Given the description of an element on the screen output the (x, y) to click on. 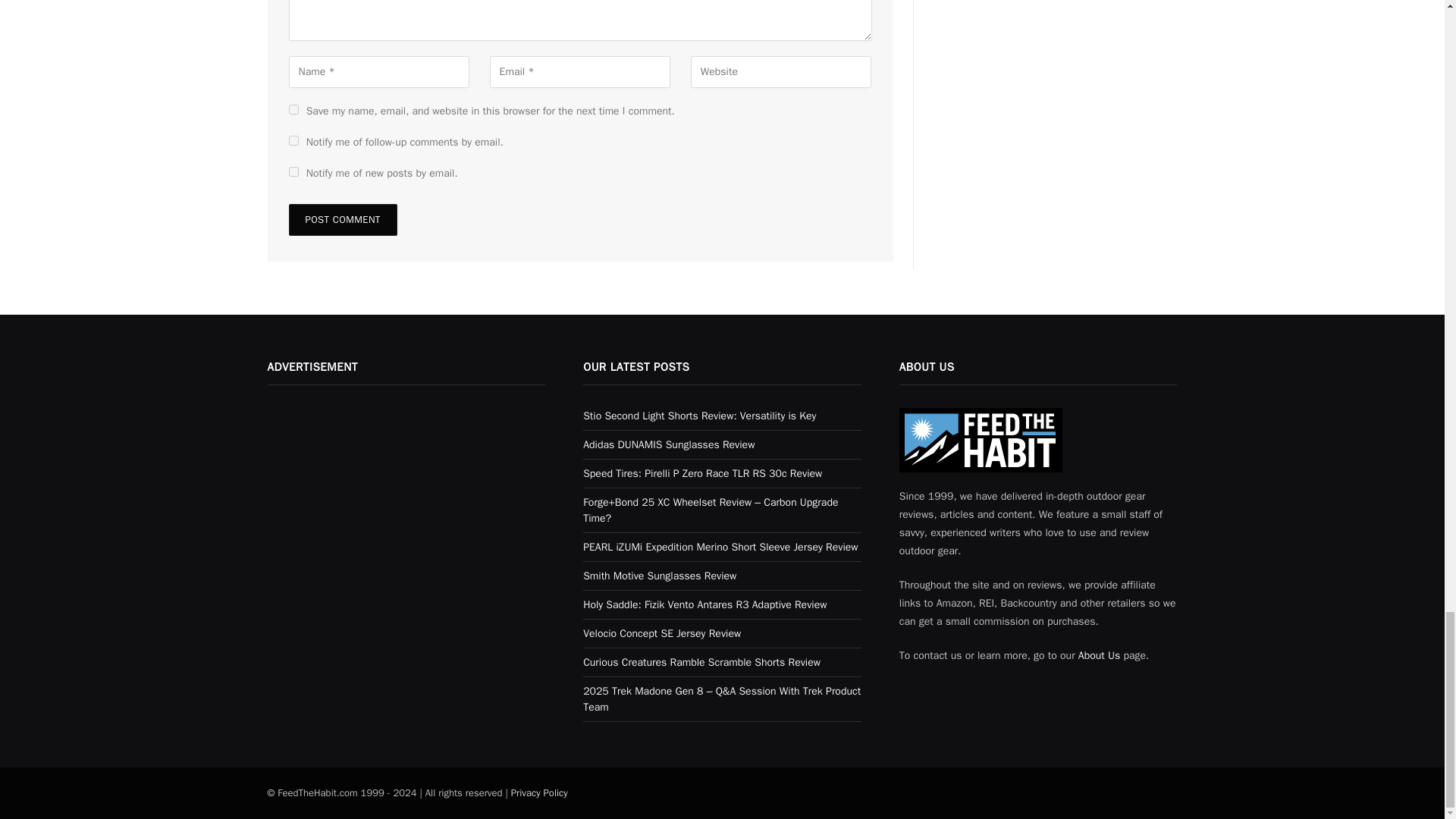
Post Comment (342, 219)
subscribe (293, 140)
subscribe (293, 171)
yes (293, 109)
